Given the description of an element on the screen output the (x, y) to click on. 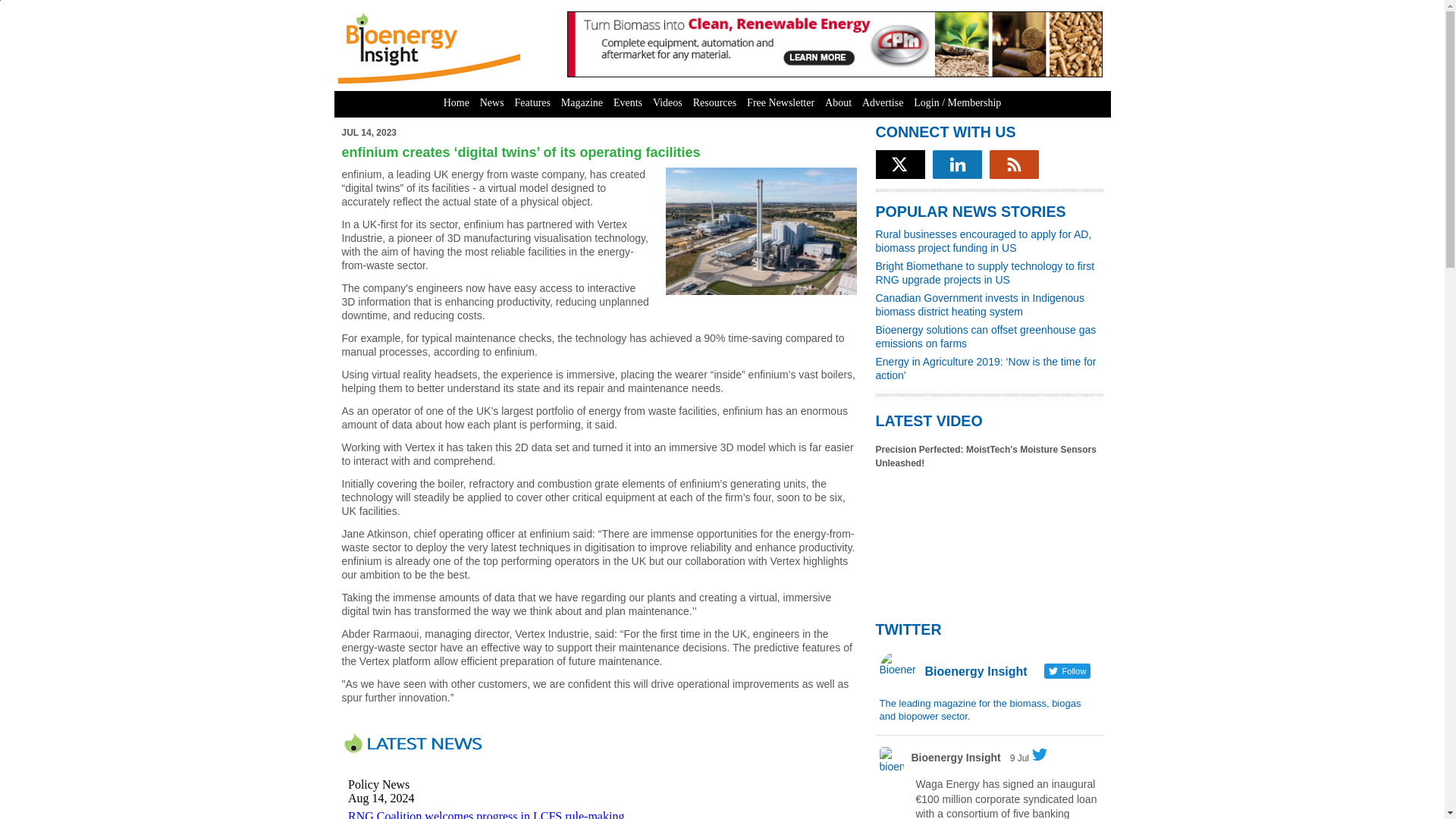
Advertise (883, 102)
Videos (667, 102)
Free Newsletter (780, 102)
Magazine (582, 102)
Features (532, 102)
Resources (714, 102)
